Given the description of an element on the screen output the (x, y) to click on. 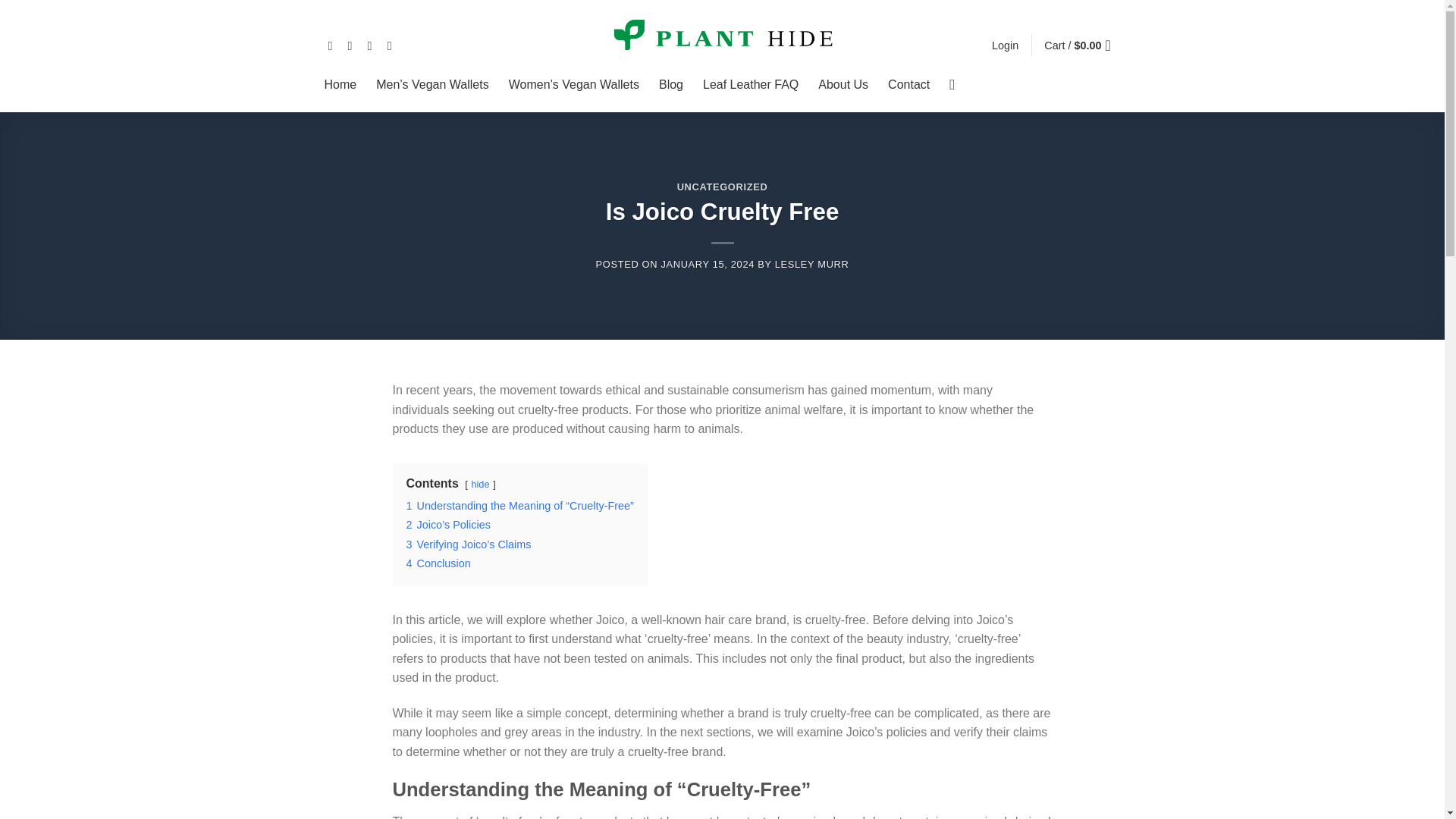
Send us an email (392, 45)
Home (340, 84)
hide (479, 483)
LESLEY MURR (811, 263)
Leaf Leather FAQ (750, 84)
Contact (909, 84)
4 Conclusion (438, 563)
Blog (670, 84)
Cart (1081, 45)
Follow on Facebook (333, 45)
Follow on Instagram (353, 45)
About Us (842, 84)
Follow on Twitter (374, 45)
UNCATEGORIZED (722, 186)
